Given the description of an element on the screen output the (x, y) to click on. 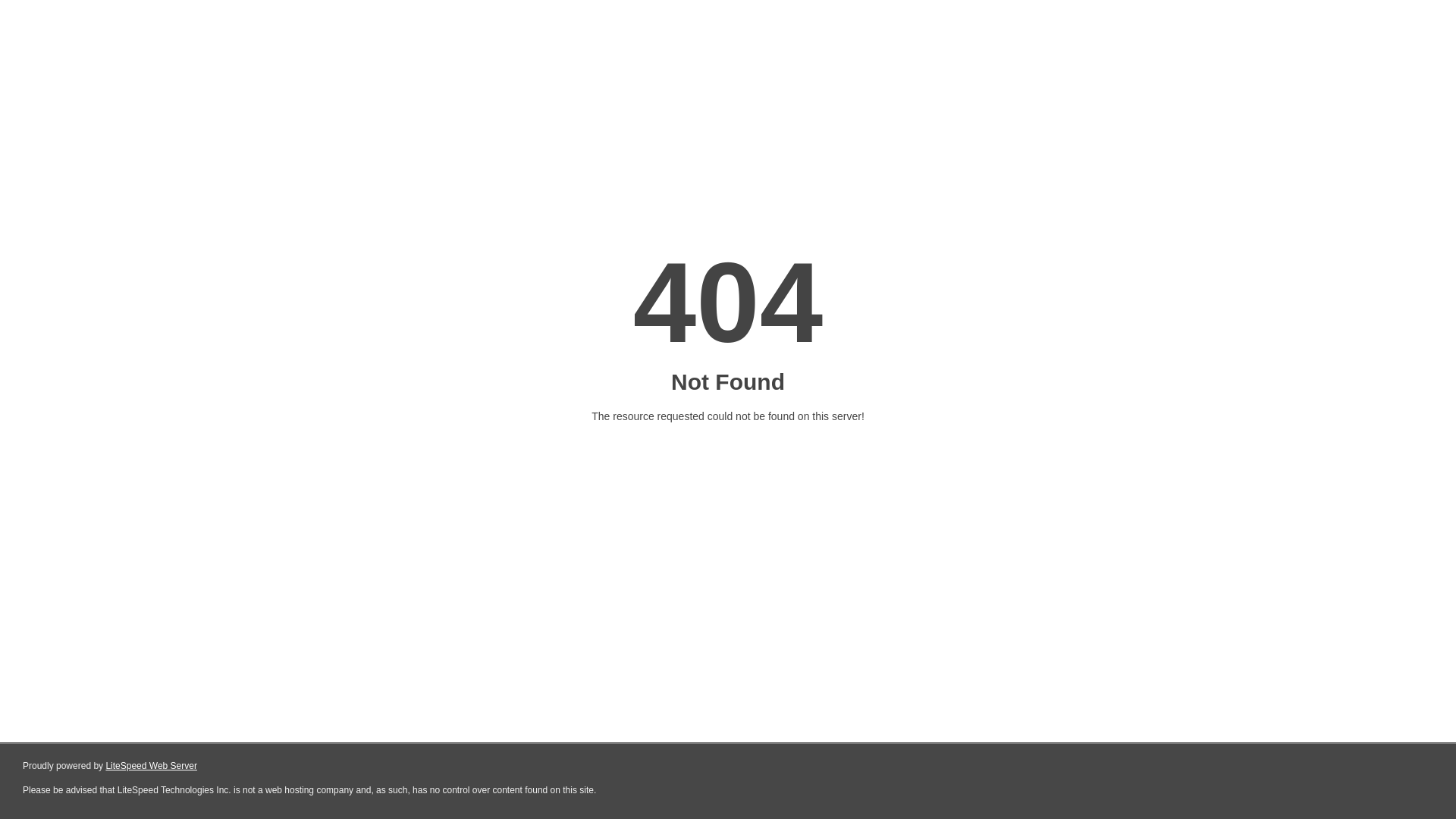
LiteSpeed Web Server (150, 765)
